Given the description of an element on the screen output the (x, y) to click on. 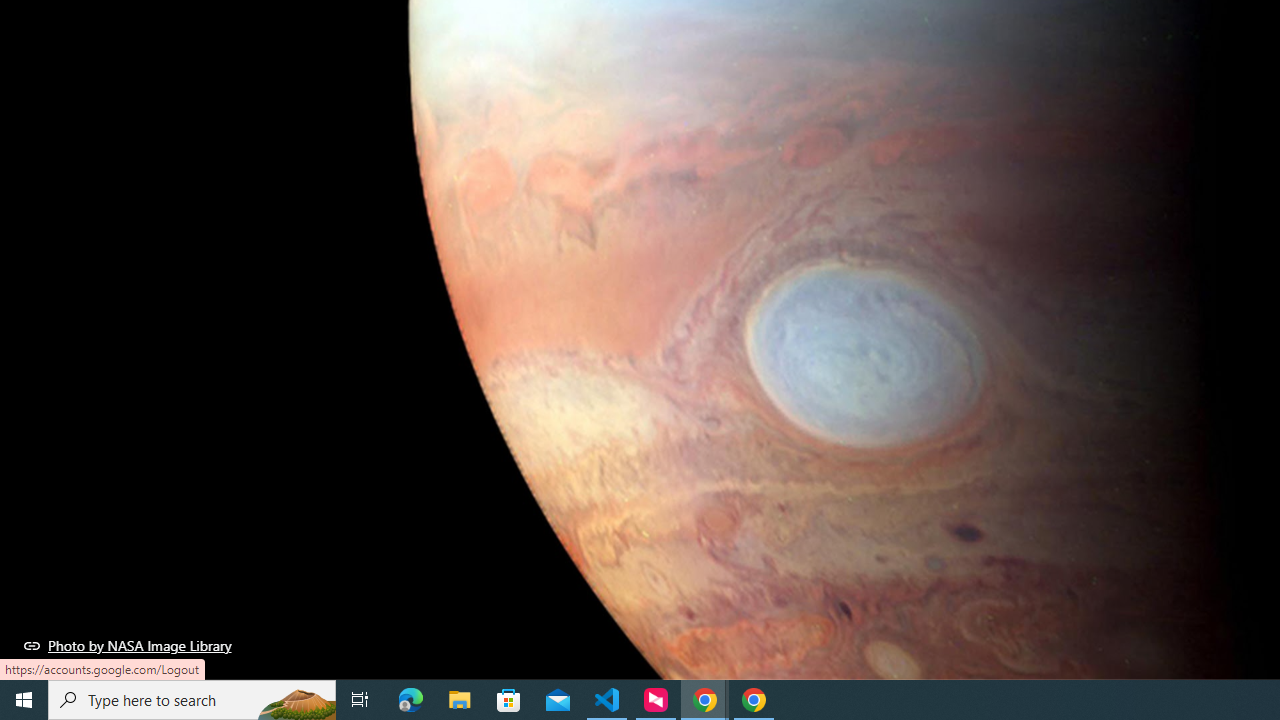
Photo by NASA Image Library (127, 645)
